Given the description of an element on the screen output the (x, y) to click on. 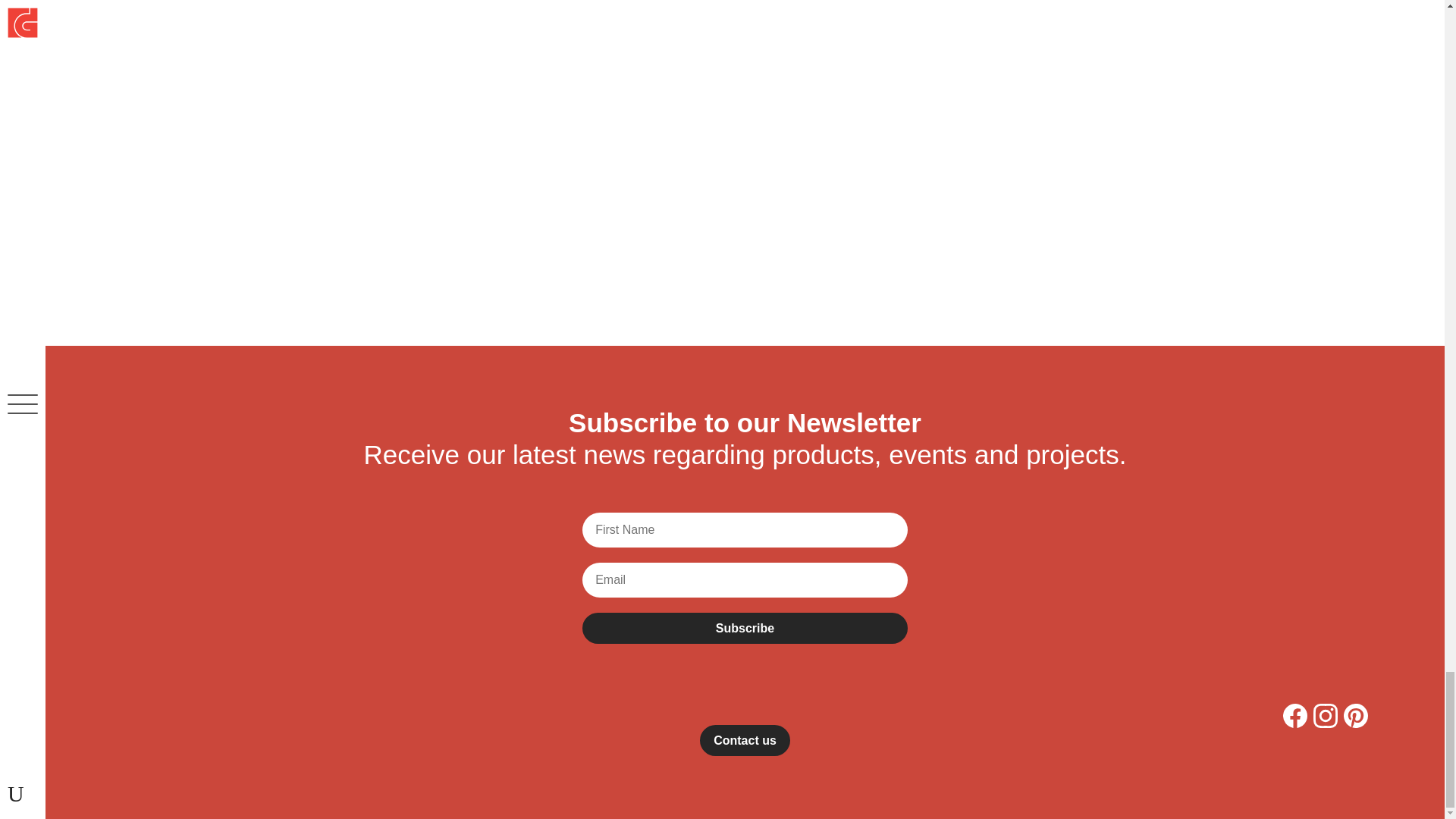
Follow on  (1294, 715)
Follow on  (1355, 715)
Follow on  (1325, 715)
